Given the description of an element on the screen output the (x, y) to click on. 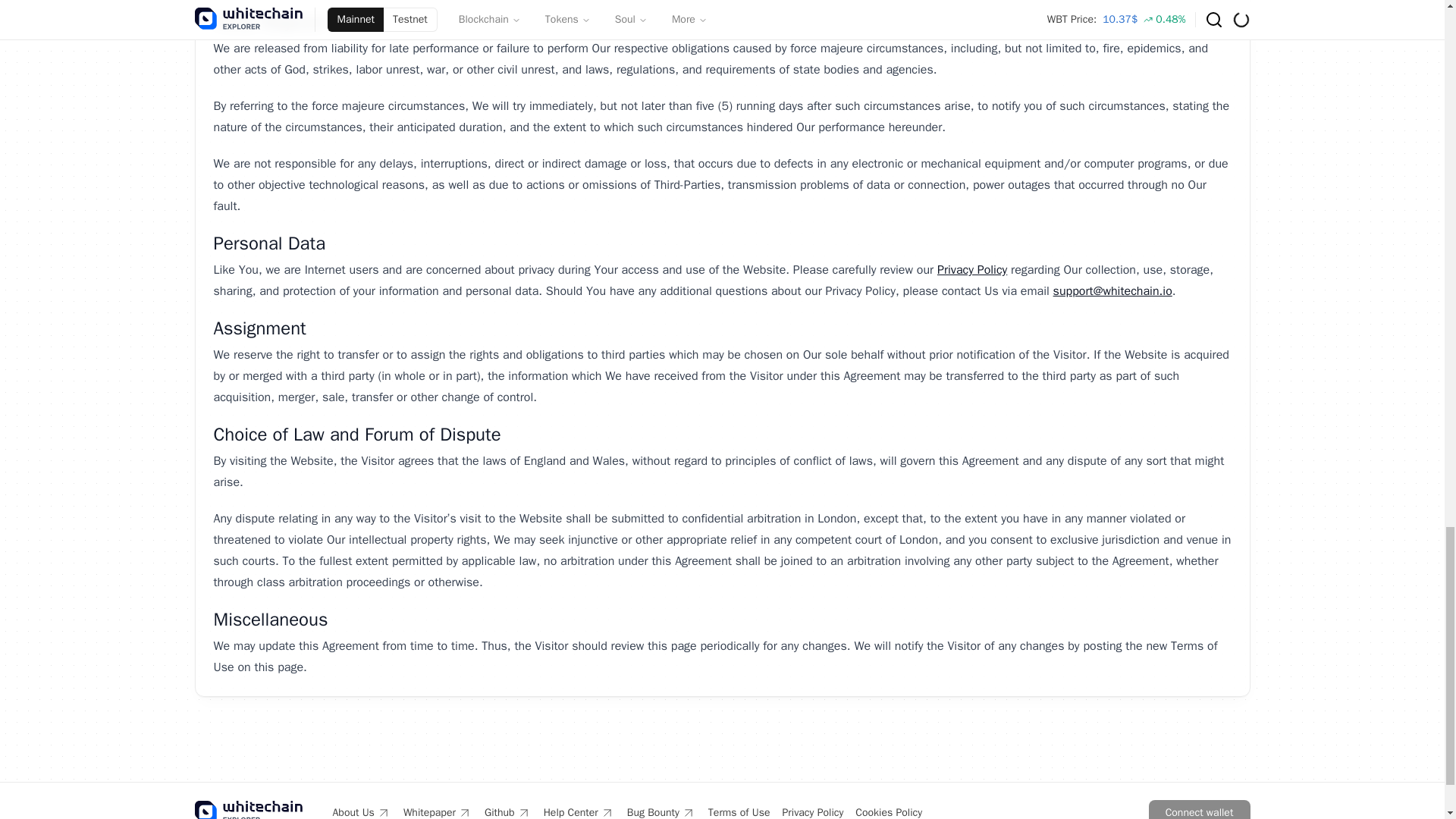
Help Center (578, 812)
Cookies Policy (888, 812)
Terms of Use (738, 812)
Connect wallet (1198, 809)
Github (507, 812)
Bug Bounty (661, 812)
Whitepaper (437, 812)
About Us (360, 812)
Privacy Policy (813, 812)
Privacy Policy (972, 269)
